Given the description of an element on the screen output the (x, y) to click on. 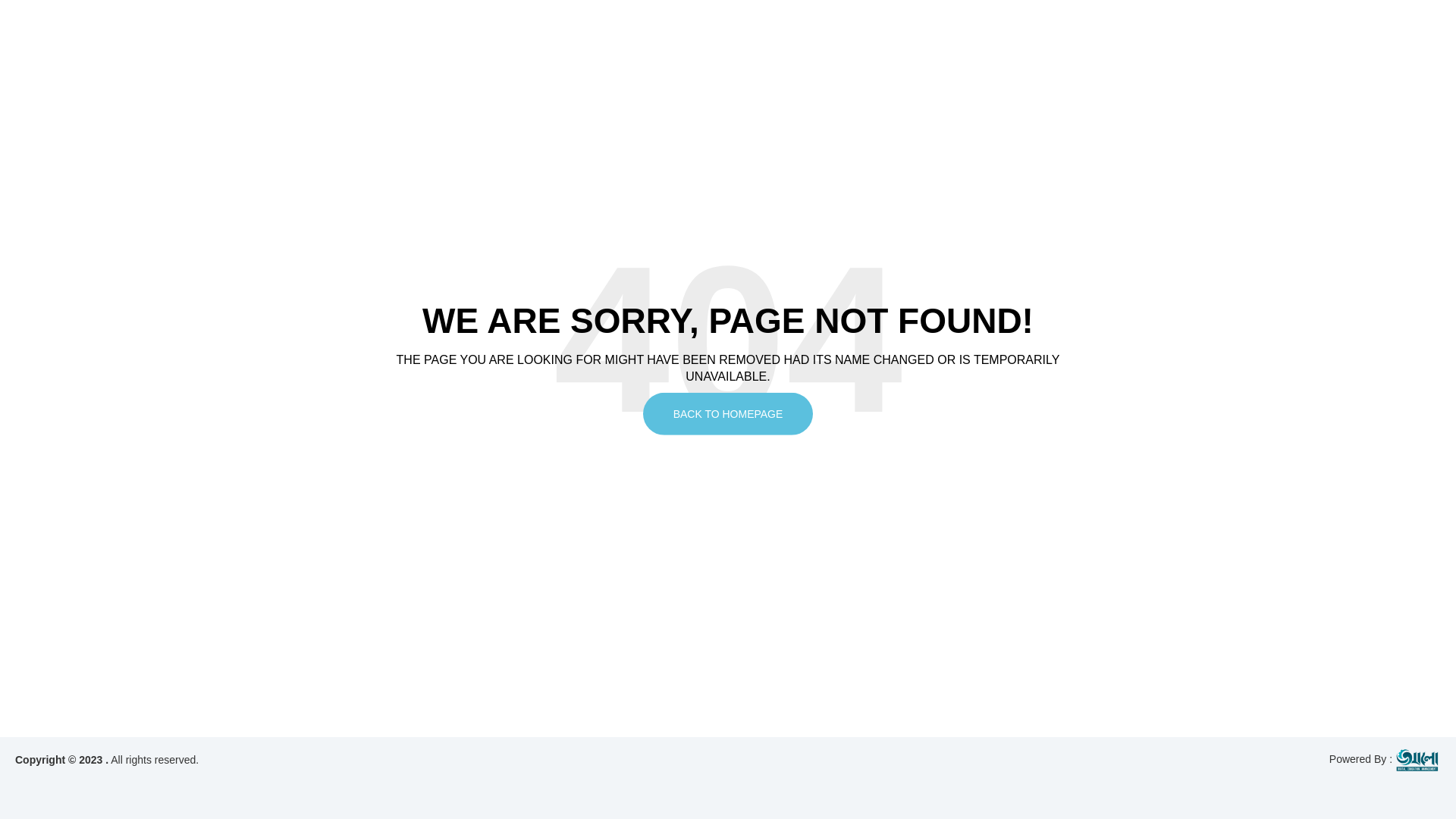
BACK TO HOMEPAGE Element type: text (728, 413)
